Given the description of an element on the screen output the (x, y) to click on. 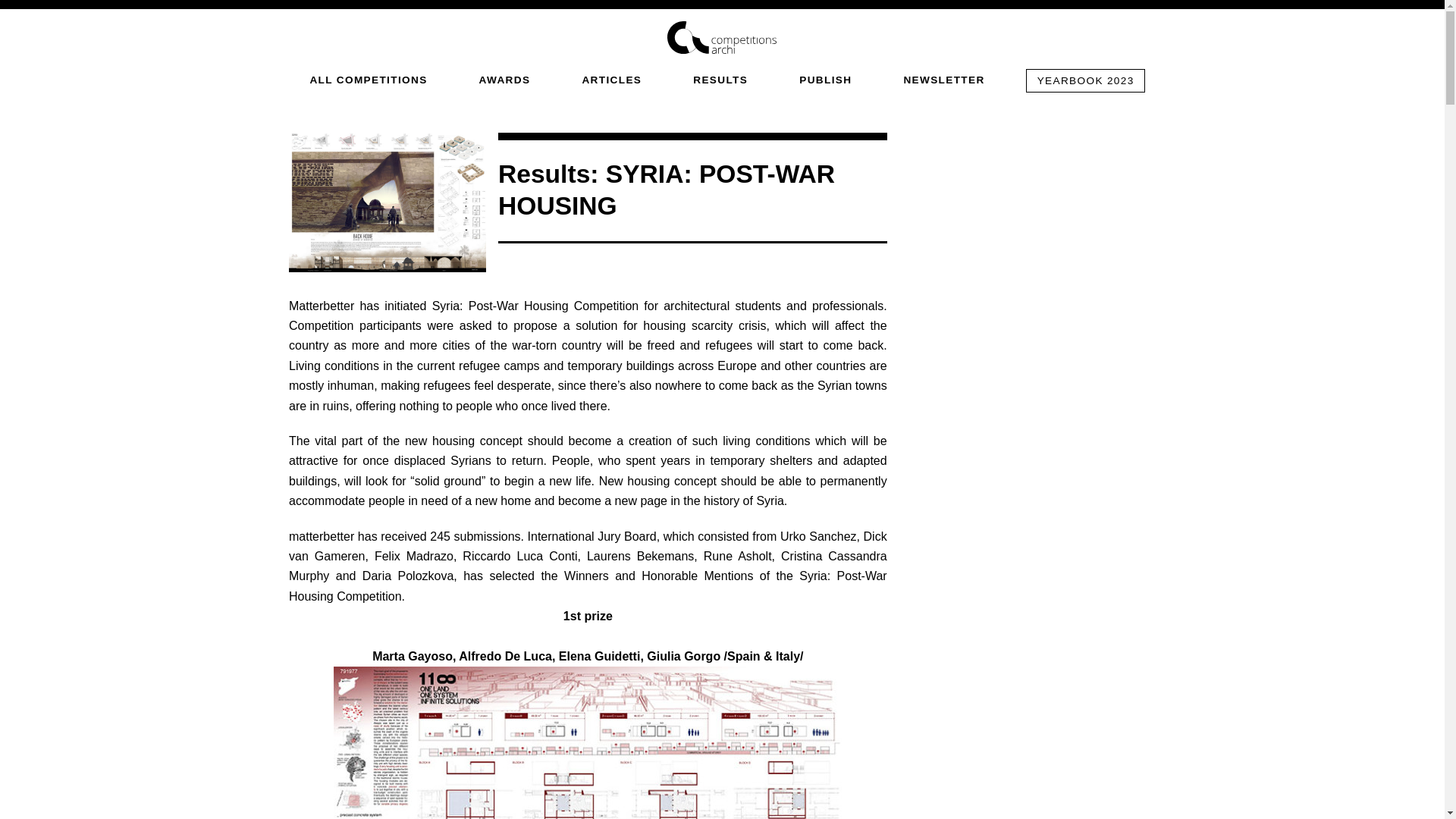
RESULTS (720, 79)
ARTICLES (611, 79)
PUBLISH (825, 79)
YEARBOOK 2023 (1085, 80)
NEWSLETTER (943, 79)
AWARDS (505, 79)
ALL COMPETITIONS (367, 79)
